Given the description of an element on the screen output the (x, y) to click on. 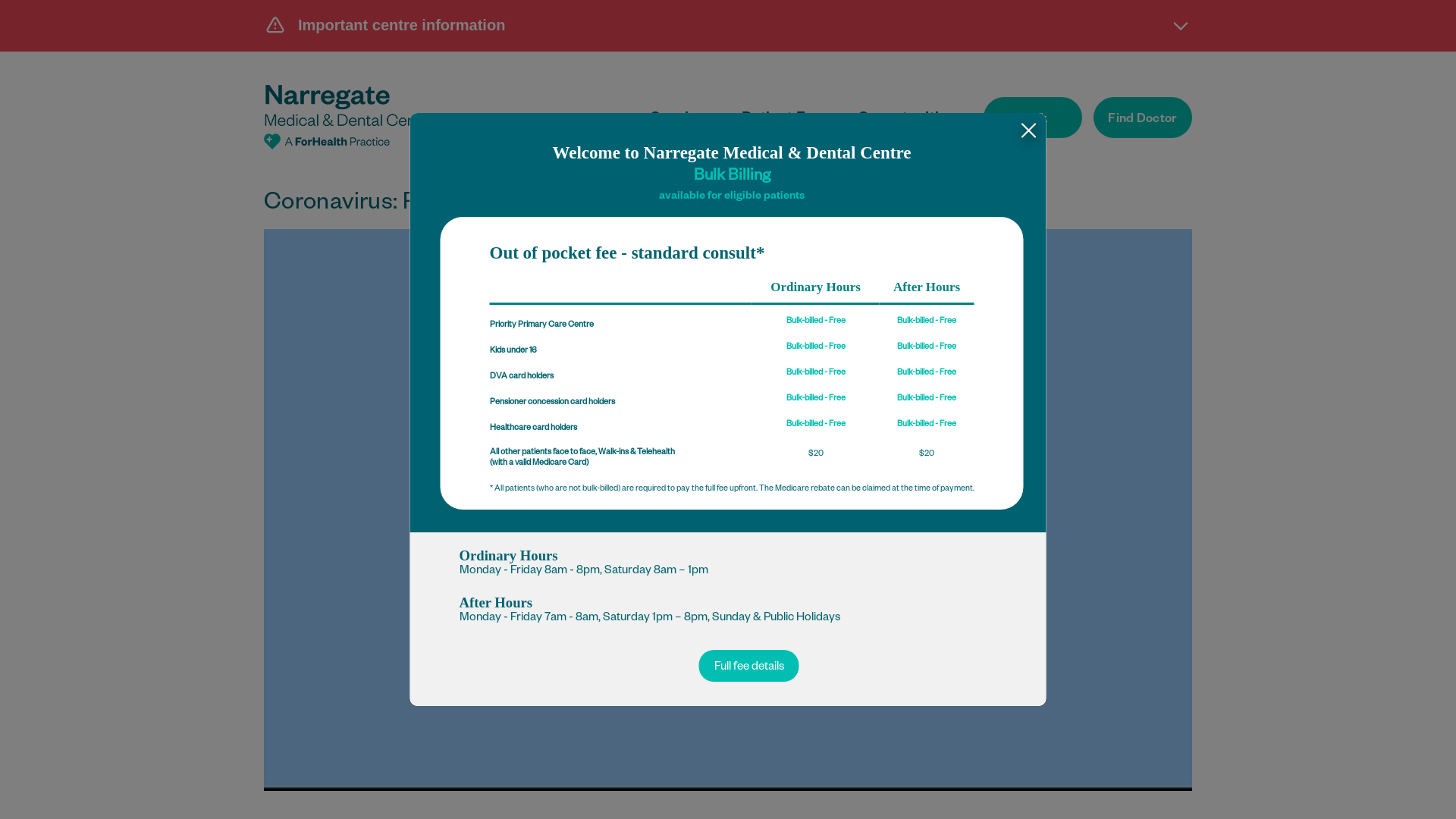
Book Element type: text (1032, 117)
Services Element type: text (681, 119)
Important centre information Element type: text (727, 24)
Full fee details Element type: text (749, 665)
Coronavirus: Reducing the Risk Element type: hover (727, 509)
Patient Fees Element type: text (785, 119)
Narregate Medical & Dental Centre Element type: hover (348, 116)
Opportunities Element type: text (906, 119)
Find Doctor Element type: text (1142, 117)
